Given the description of an element on the screen output the (x, y) to click on. 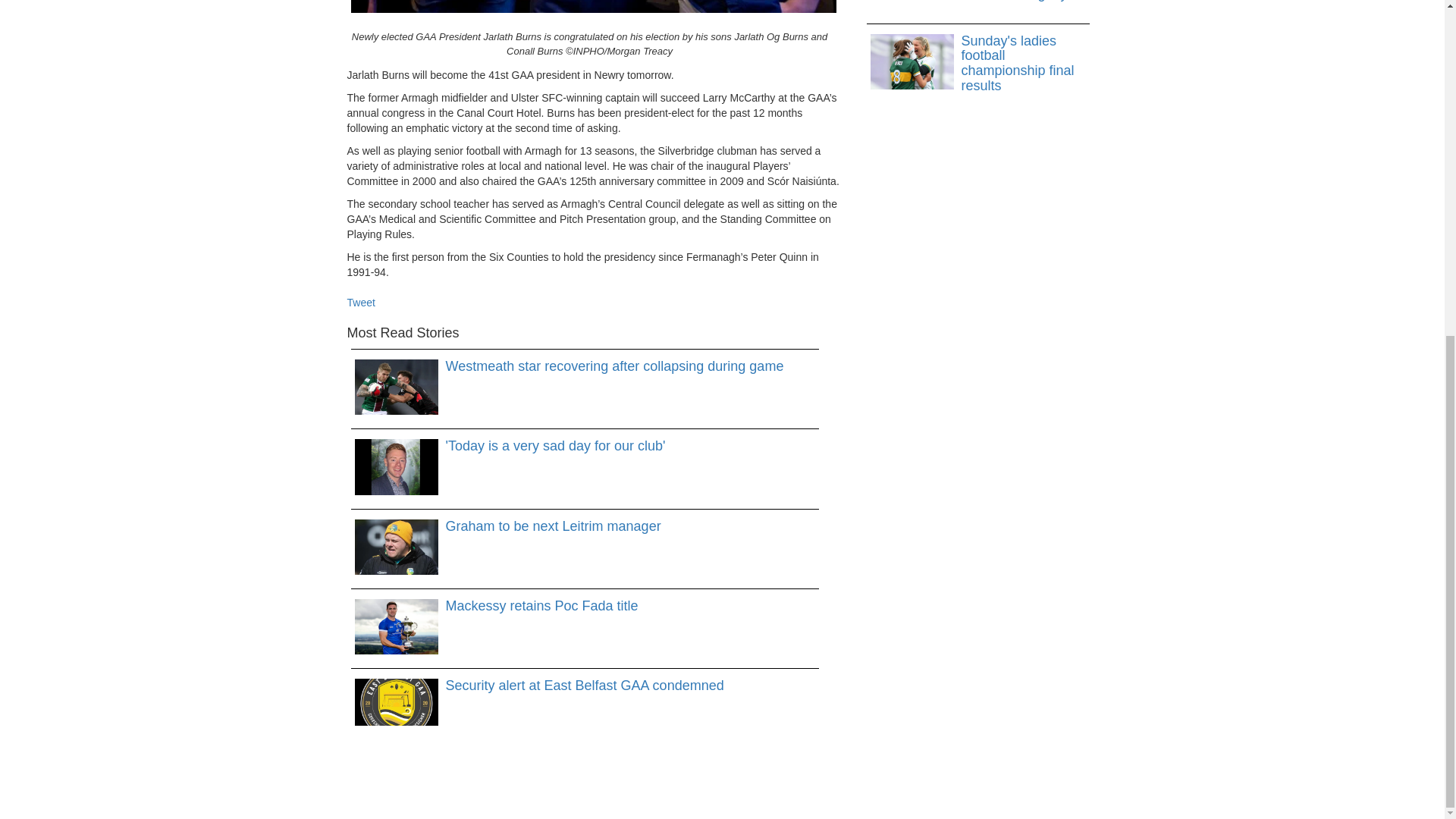
Graham to be next Leitrim manager (585, 526)
Security alert at East Belfast GAA condemned (585, 685)
Tweet (361, 302)
Sunday's ladies football championship final results (978, 64)
Westmeath star recovering after collapsing during game (585, 366)
'Today is a very sad day for our club' (585, 446)
Mackessy retains Poc Fada title (585, 606)
